Given the description of an element on the screen output the (x, y) to click on. 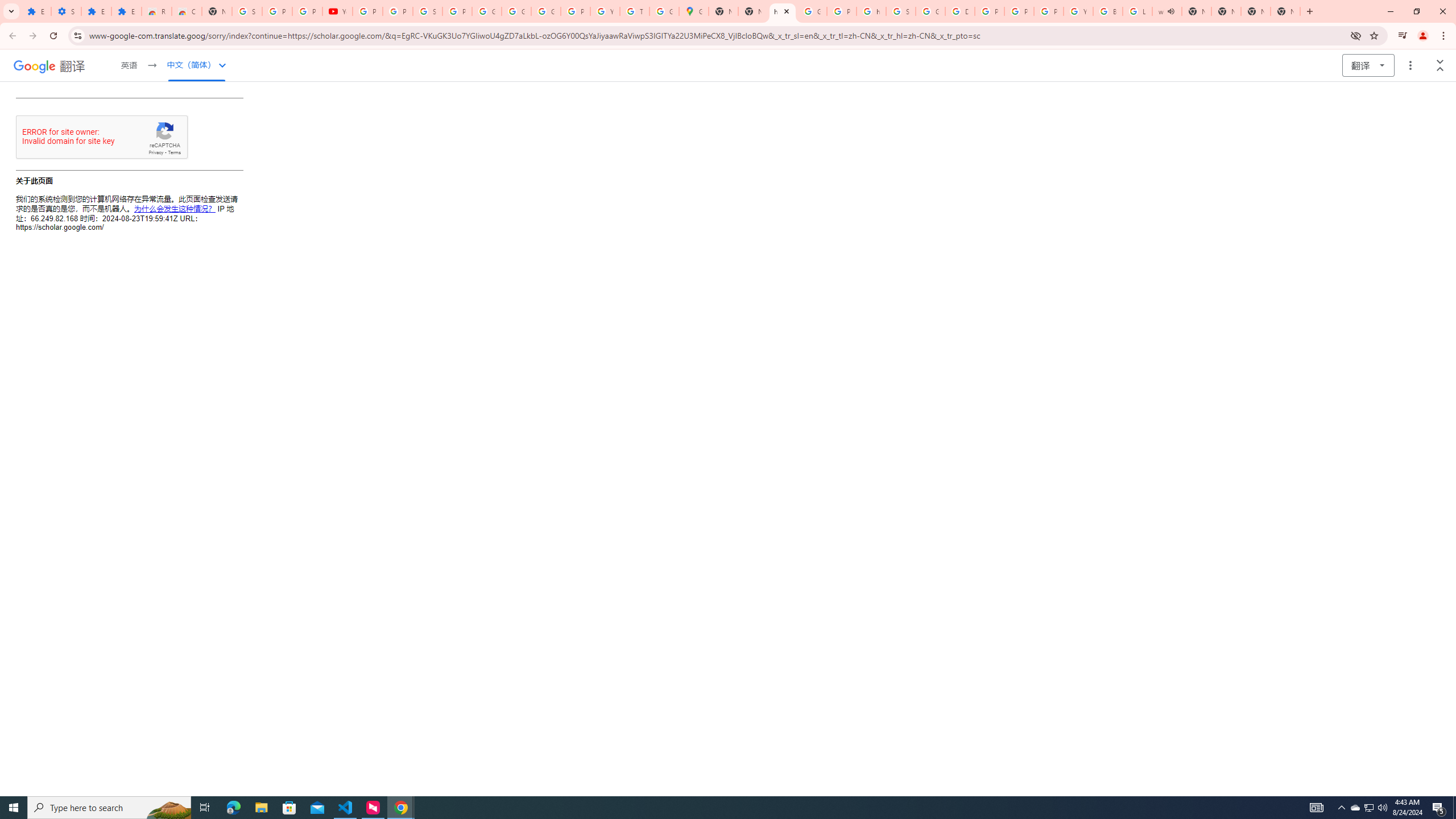
Sign in - Google Accounts (426, 11)
Google Account (515, 11)
Extensions (126, 11)
